Given the description of an element on the screen output the (x, y) to click on. 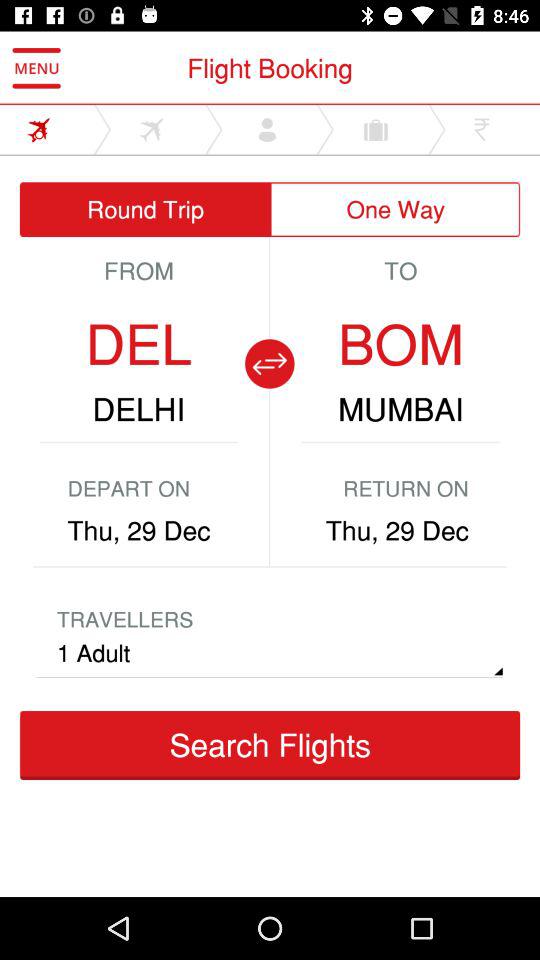
swipe until mumbai item (400, 409)
